Given the description of an element on the screen output the (x, y) to click on. 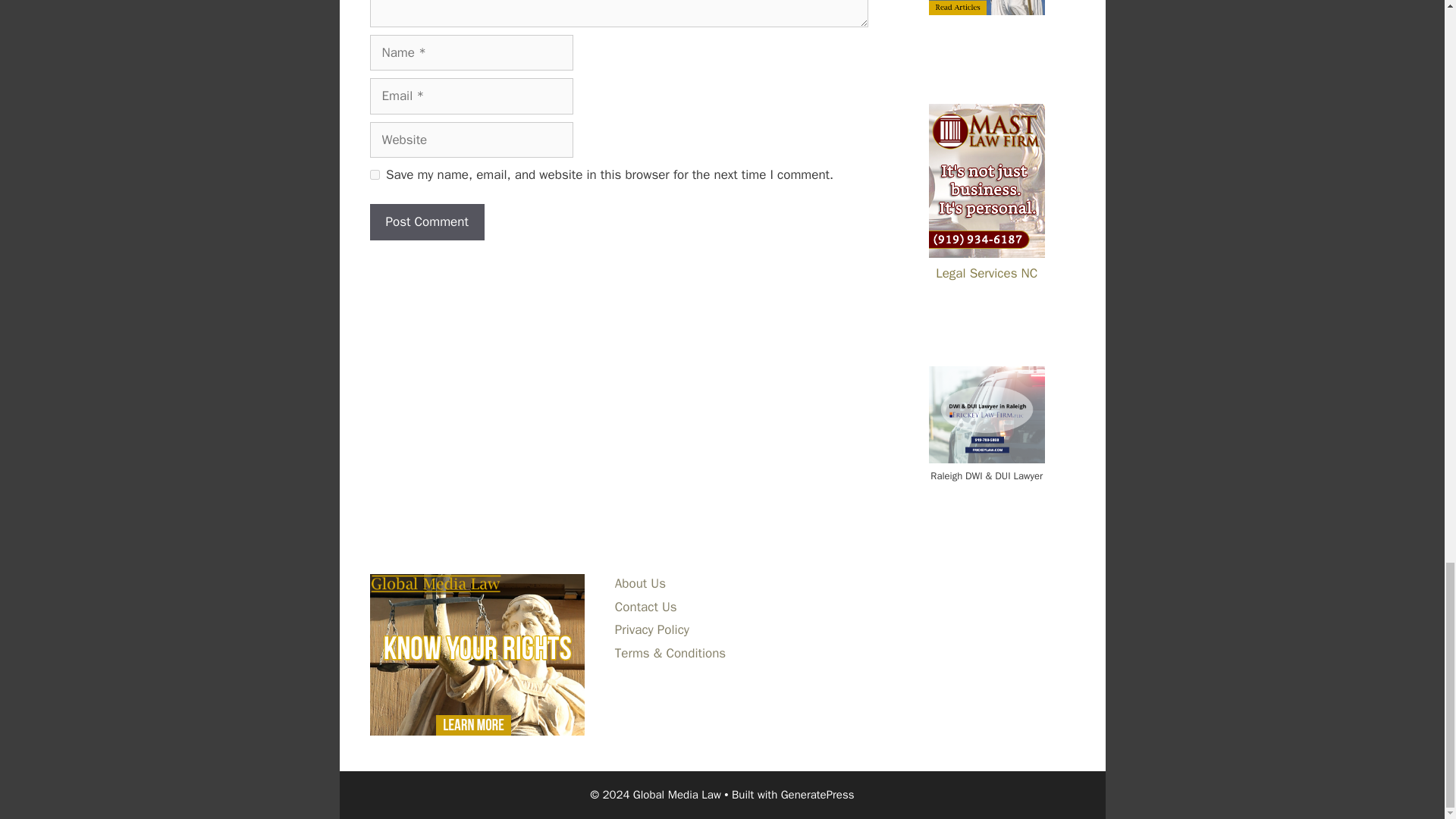
Legal Services NC (986, 263)
Post Comment (426, 221)
Contact Us (645, 606)
Privacy Policy (651, 629)
About Us (639, 583)
GeneratePress (817, 794)
Post Comment (426, 221)
yes (374, 174)
